Given the description of an element on the screen output the (x, y) to click on. 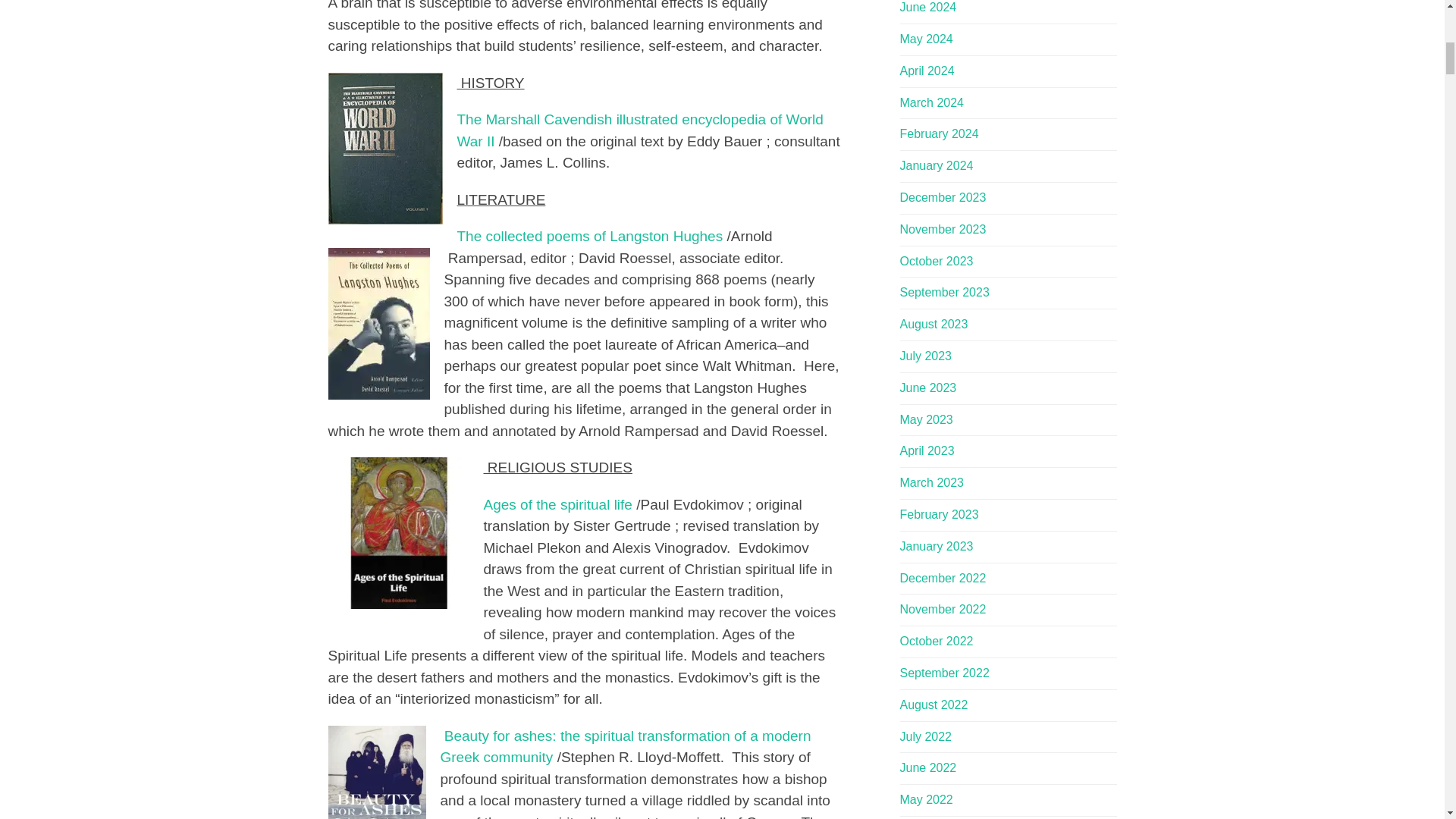
Ages of the spiritual life (557, 504)
The collected poems of Langston Hughes (589, 236)
